Given the description of an element on the screen output the (x, y) to click on. 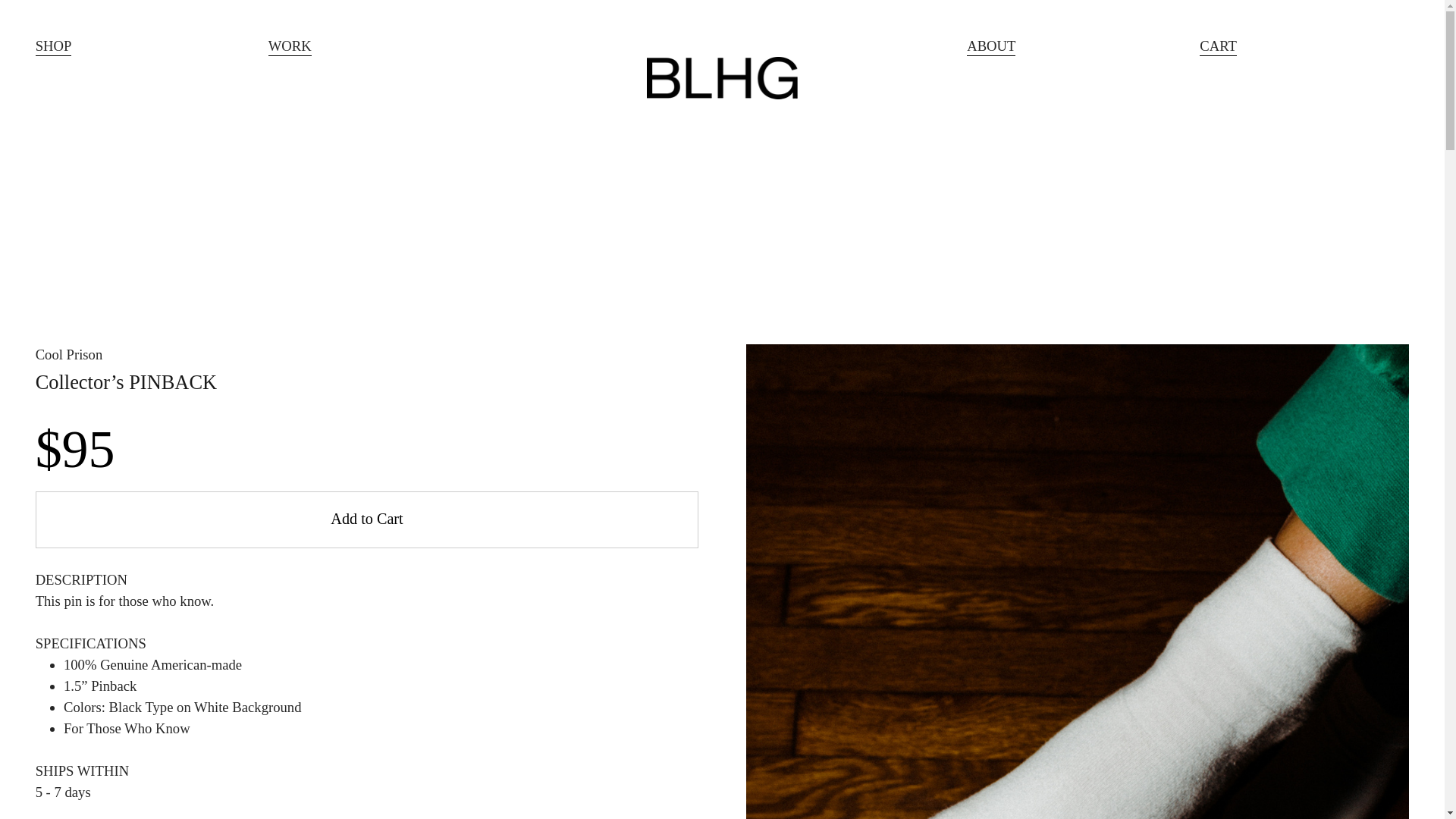
SHOP (52, 46)
CART (1217, 46)
ABOUT (990, 46)
WORK (289, 46)
Add to Cart (366, 519)
